Given the description of an element on the screen output the (x, y) to click on. 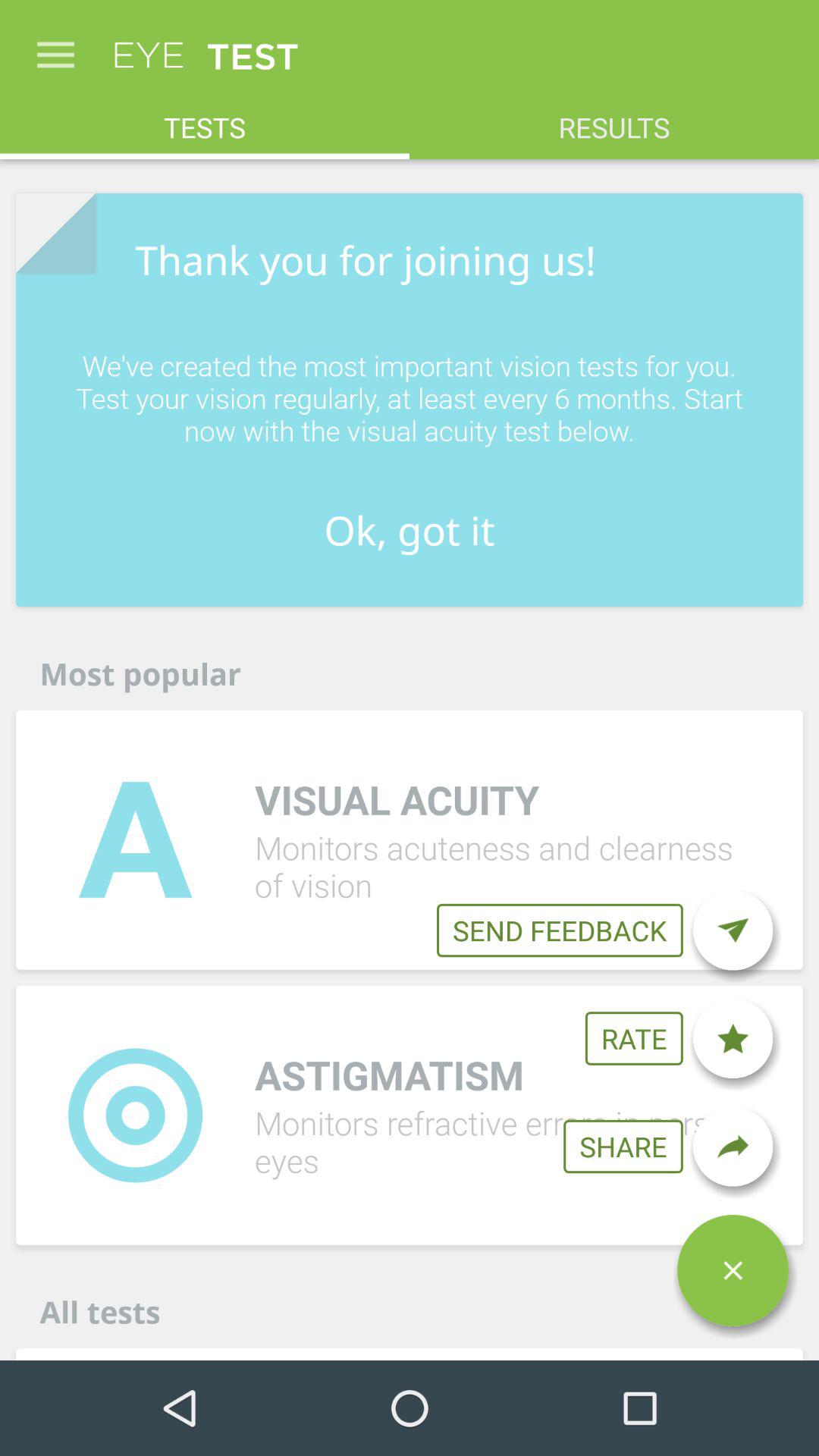
send feedback (733, 930)
